Given the description of an element on the screen output the (x, y) to click on. 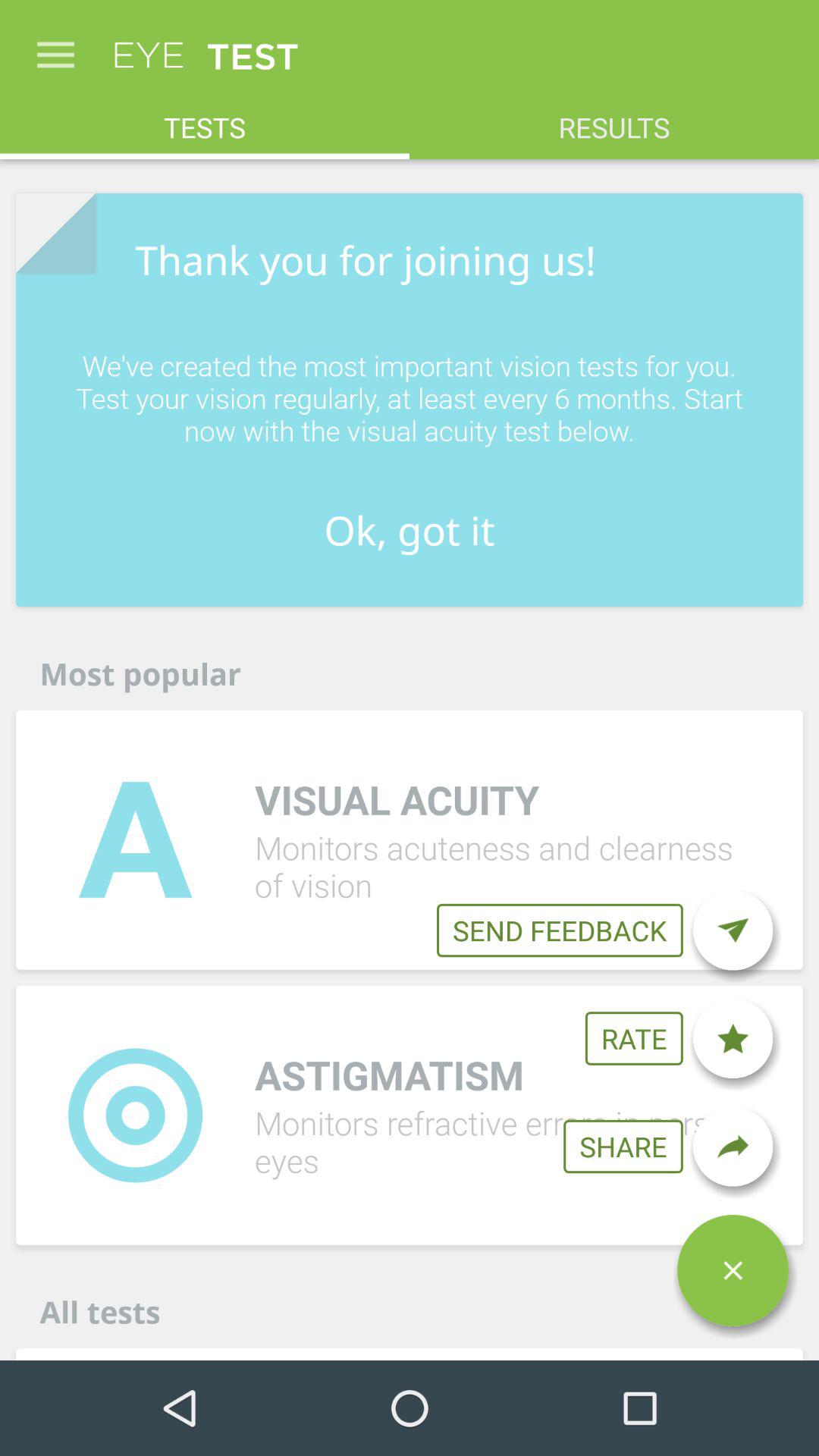
send feedback (733, 930)
